Given the description of an element on the screen output the (x, y) to click on. 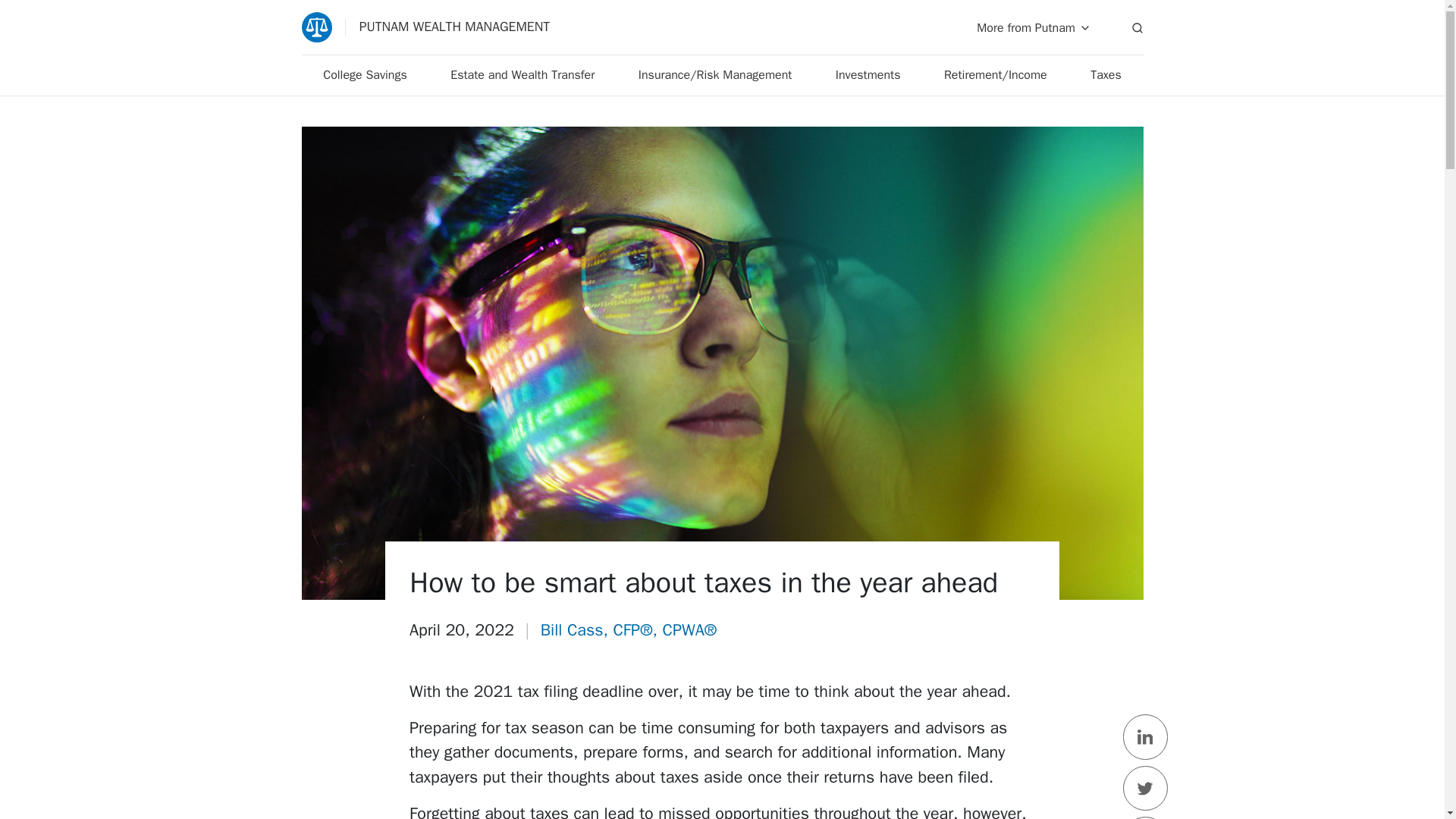
More from Putnam (1033, 27)
College Savings (365, 75)
Investments (868, 75)
Taxes (1105, 75)
PUTNAM WEALTH MANAGEMENT (425, 26)
Estate and Wealth Transfer (521, 75)
